Given the description of an element on the screen output the (x, y) to click on. 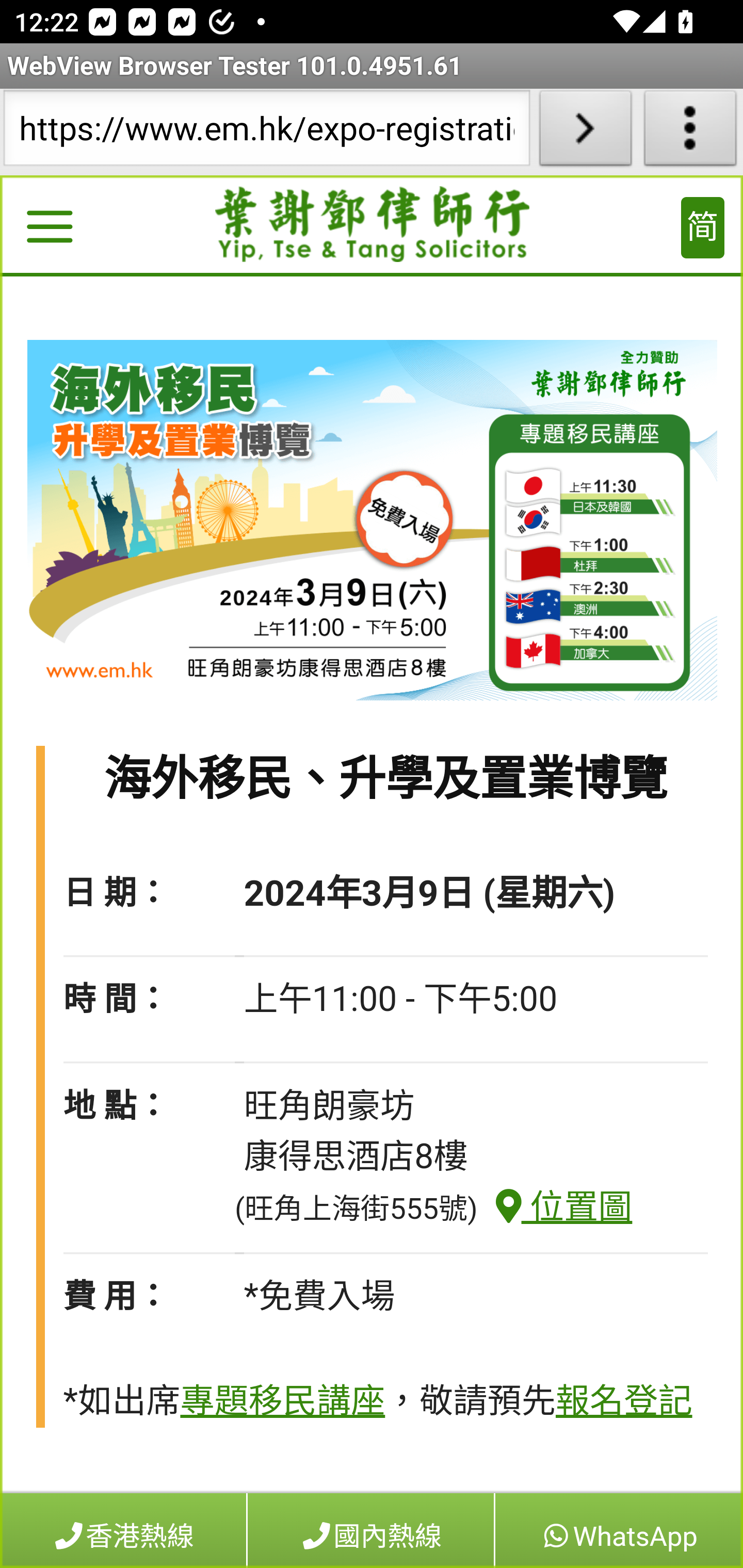
Load URL (585, 132)
About WebView (690, 132)
葉謝鄧律師行 (372, 224)
 (48, 229)
简 (702, 227)
 位置圖 (555, 1206)
專題移民講座 (282, 1401)
報名登記 (623, 1401)
香港熱線 (123, 1530)
國內熱線 (370, 1530)
WhatsApp (618, 1530)
